Given the description of an element on the screen output the (x, y) to click on. 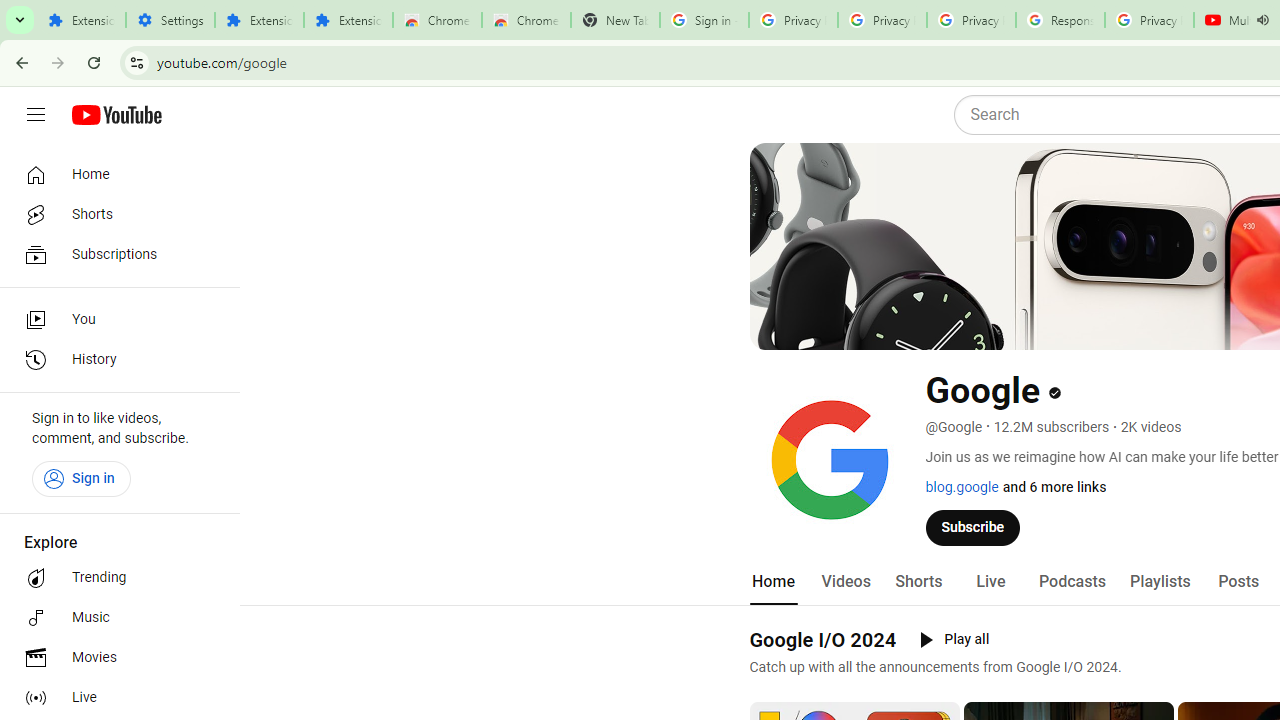
Posts (1238, 581)
